Given the description of an element on the screen output the (x, y) to click on. 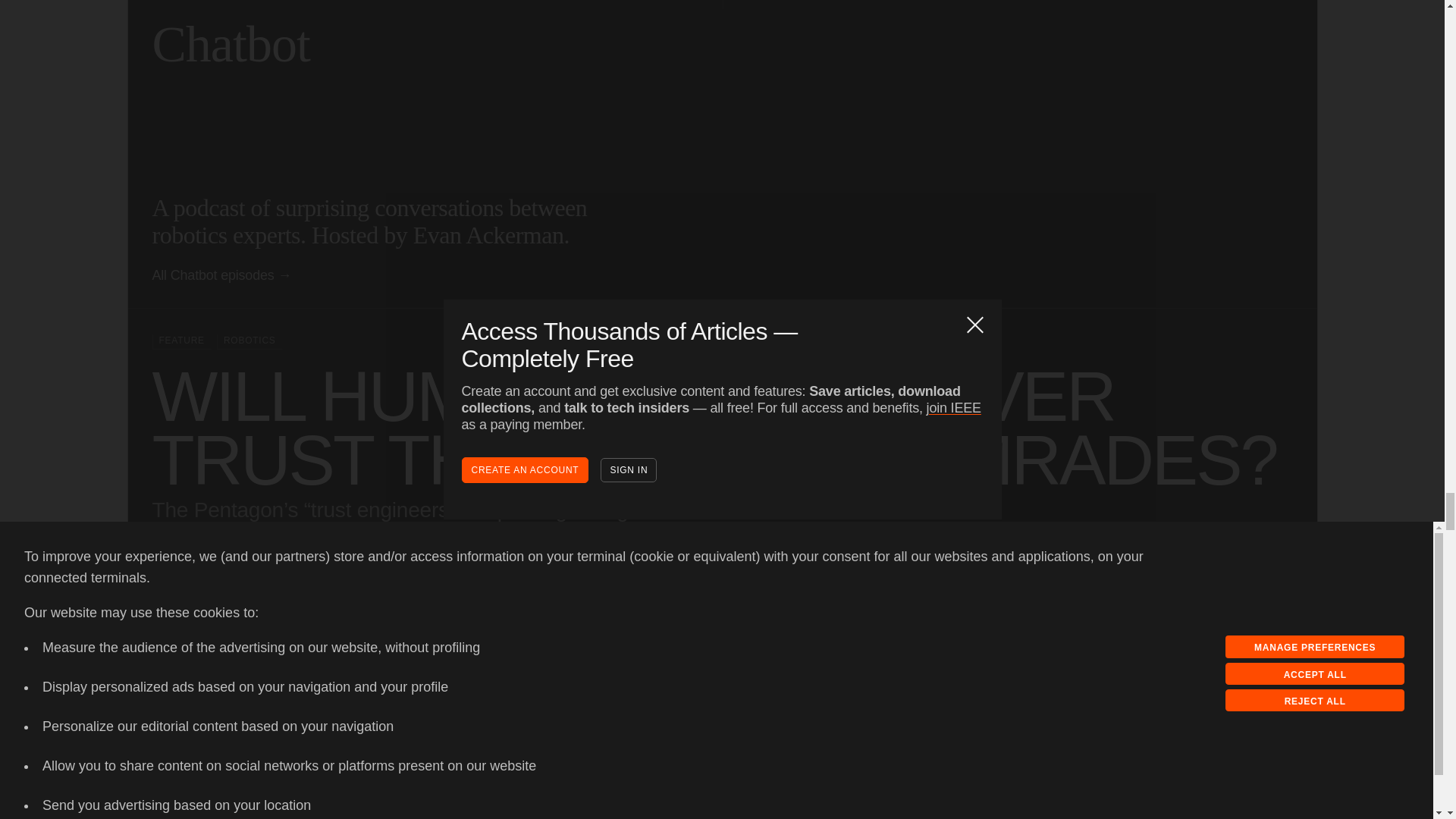
Copy this link to clipboard (1199, 734)
